Given the description of an element on the screen output the (x, y) to click on. 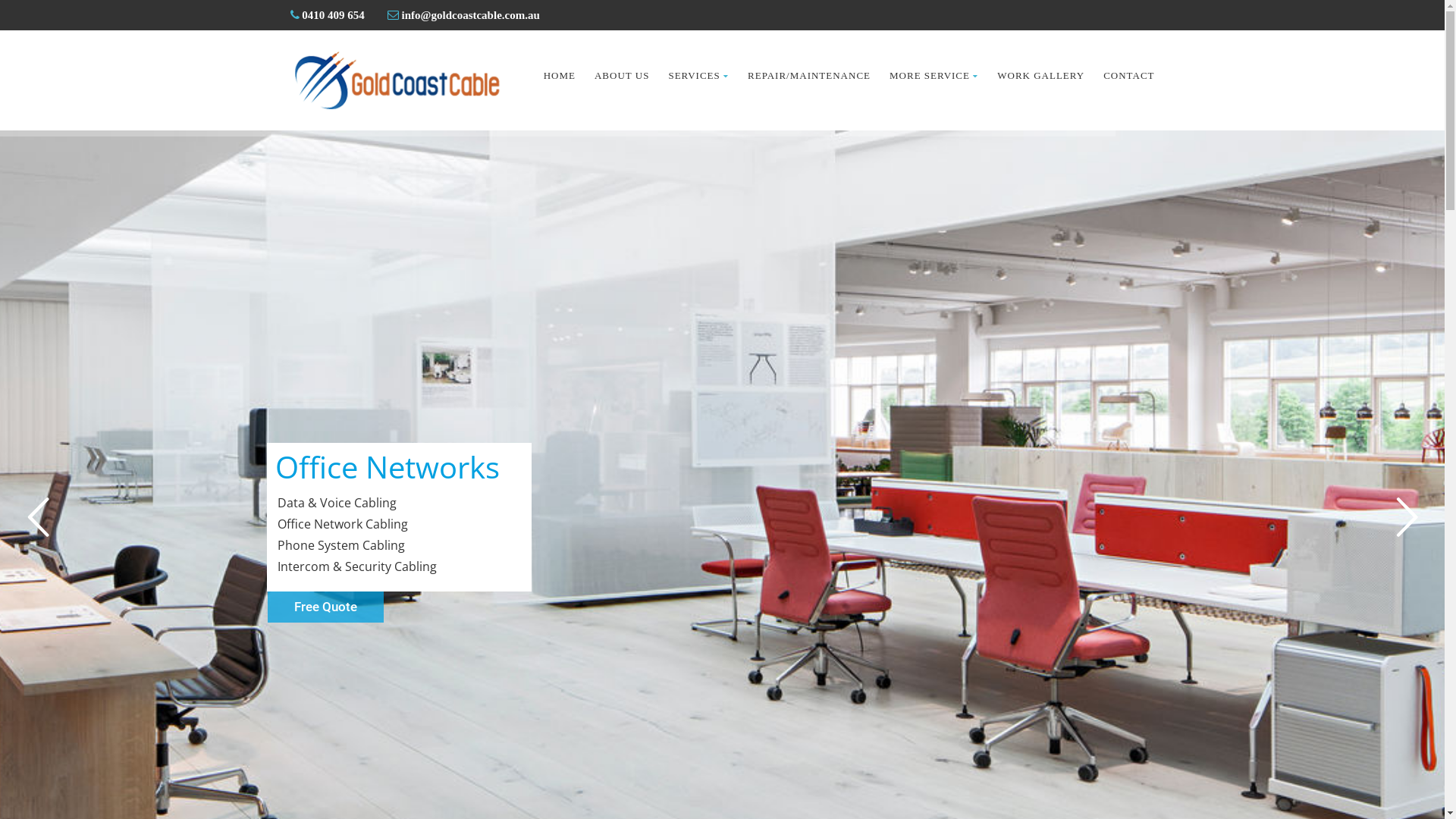
ABOUT US Element type: text (621, 75)
MORE SERVICE Element type: text (933, 75)
SERVICES Element type: text (698, 75)
CONTACT Element type: text (1128, 75)
HOME Element type: text (559, 75)
WORK GALLERY Element type: text (1040, 75)
REPAIR/MAINTENANCE Element type: text (808, 75)
